Given the description of an element on the screen output the (x, y) to click on. 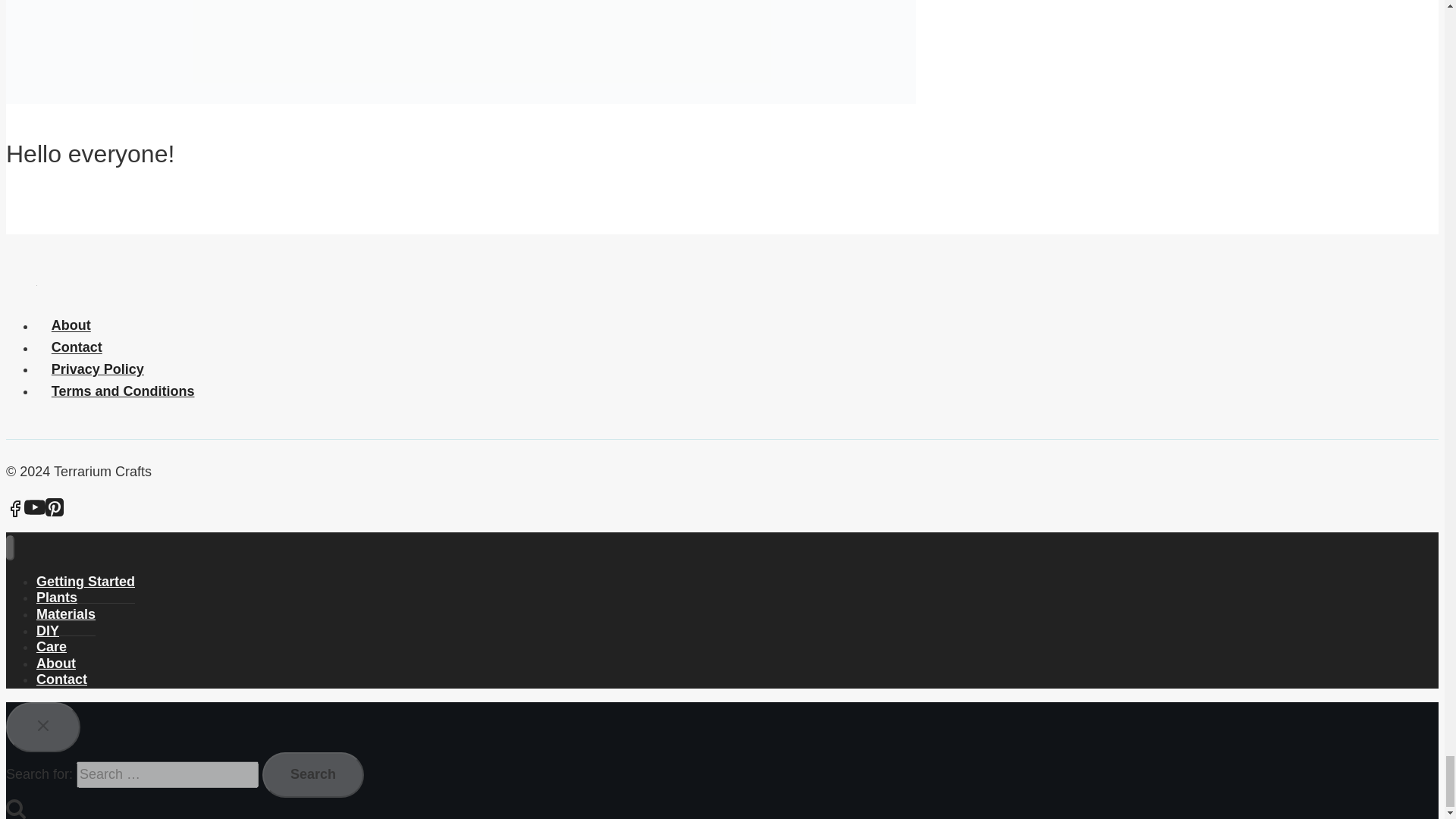
YouTube (34, 506)
Search (313, 774)
Toggle Menu Close (42, 725)
Search (313, 774)
Facebook (14, 508)
